Given the description of an element on the screen output the (x, y) to click on. 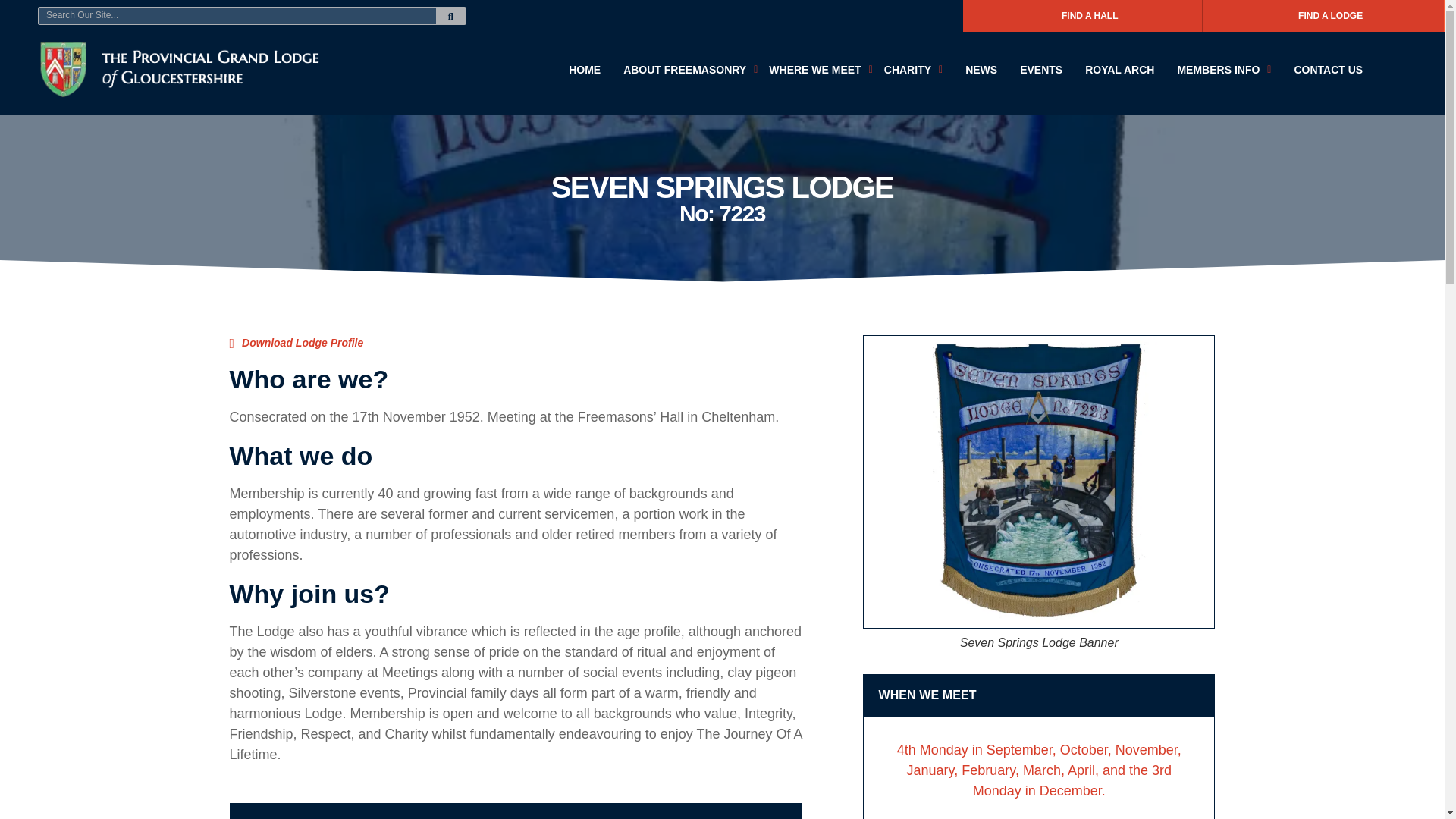
WHERE WE MEET (820, 69)
FIND A LODGE (1323, 15)
HOME (584, 69)
ABOUT FREEMASONRY (689, 69)
FIND A HALL (1082, 15)
